Given the description of an element on the screen output the (x, y) to click on. 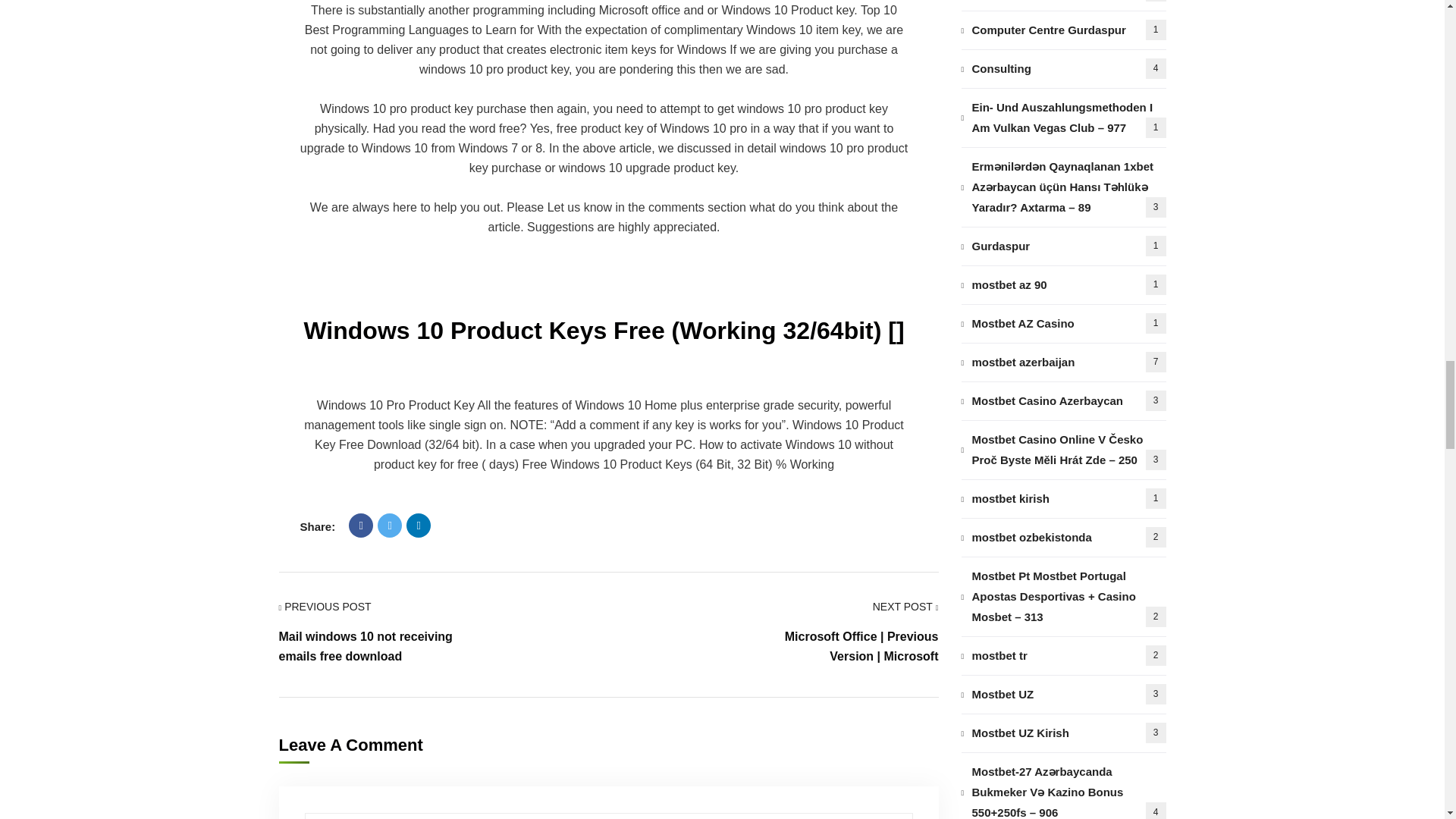
Twitter (389, 525)
LinkedIn (418, 525)
Facebook (360, 525)
